Given the description of an element on the screen output the (x, y) to click on. 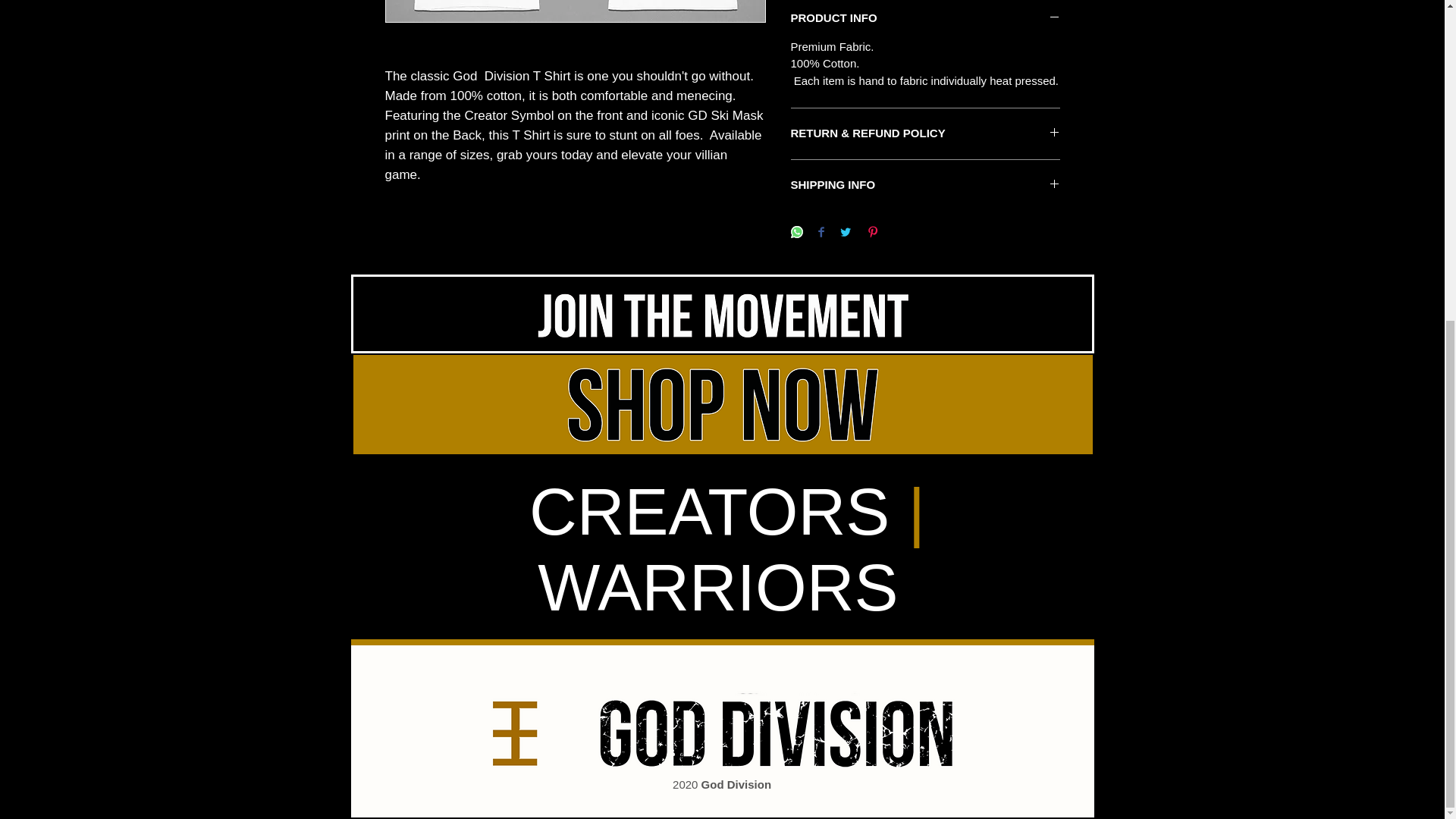
PRODUCT INFO (924, 18)
SHIPPING INFO (924, 185)
